Given the description of an element on the screen output the (x, y) to click on. 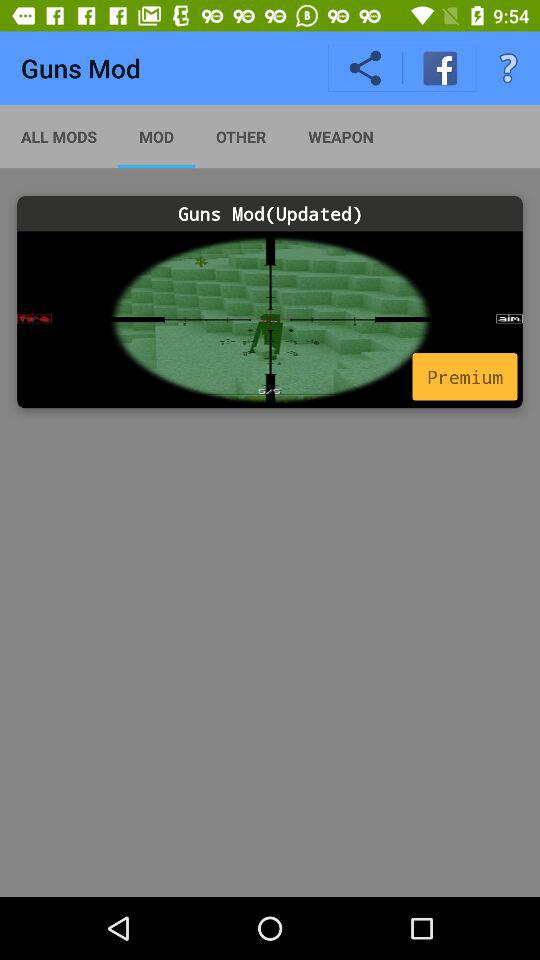
open icon to the left of the mod app (59, 136)
